Given the description of an element on the screen output the (x, y) to click on. 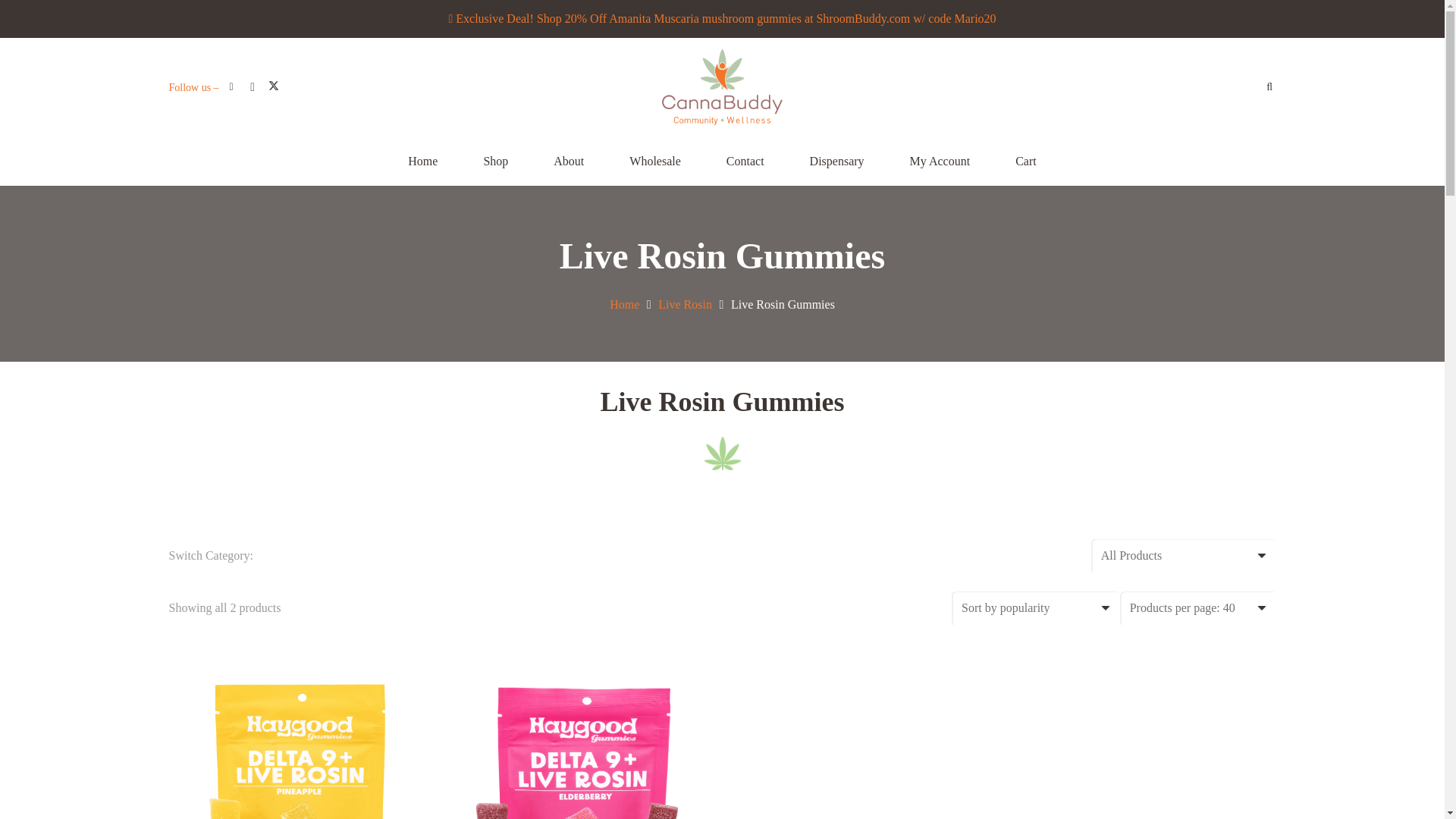
Twitter (273, 86)
Facebook (231, 86)
Instagram (252, 86)
Shop (495, 160)
Home (422, 160)
